Given the description of an element on the screen output the (x, y) to click on. 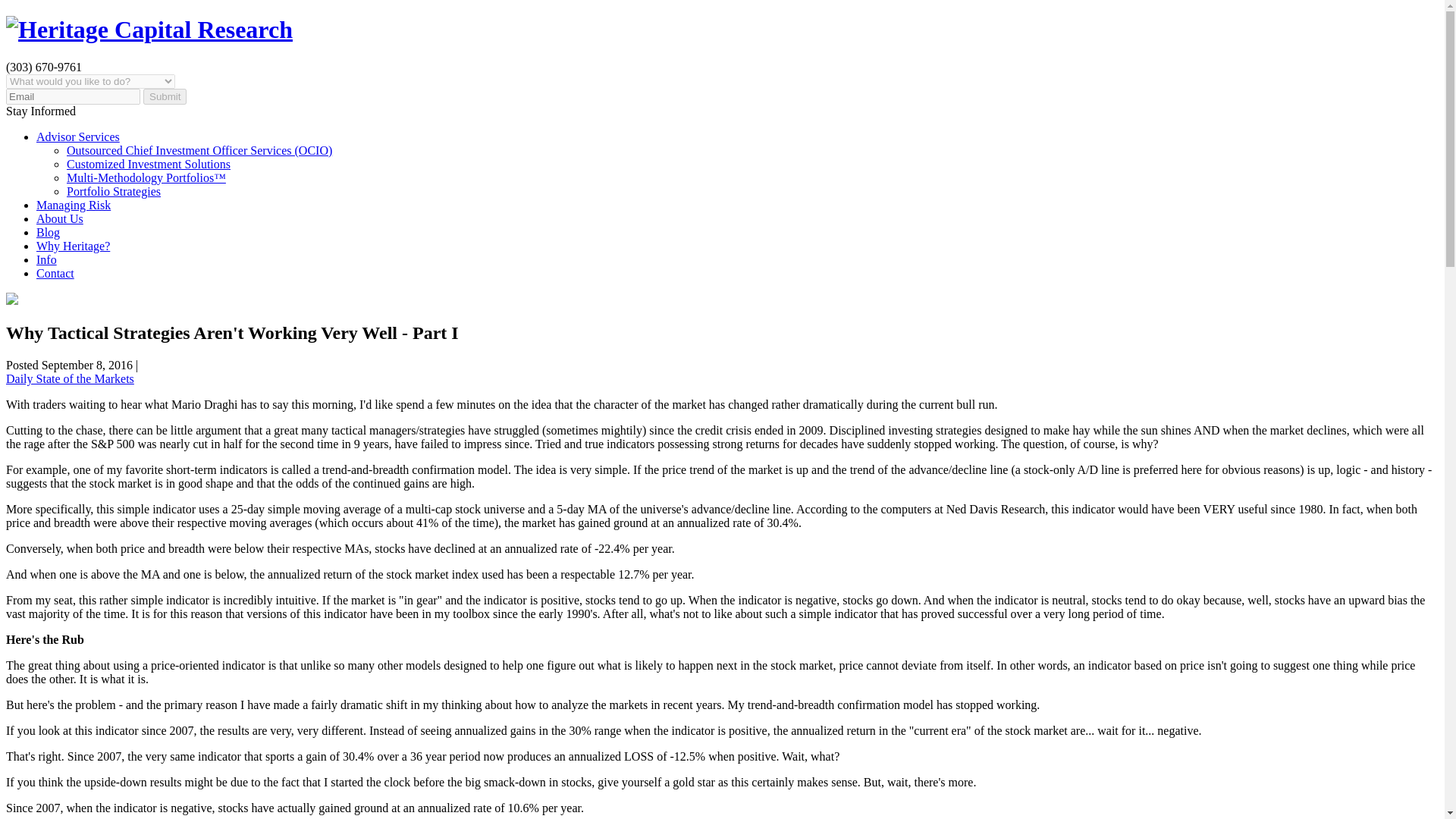
Stay Informed (40, 110)
Daily State of the Markets (69, 378)
Submit (164, 96)
Submit (164, 96)
Contact (55, 273)
Customized Investment Solutions (148, 164)
About Us (59, 218)
Portfolio Strategies (113, 191)
Blog (47, 232)
Why Heritage? (73, 245)
